Given the description of an element on the screen output the (x, y) to click on. 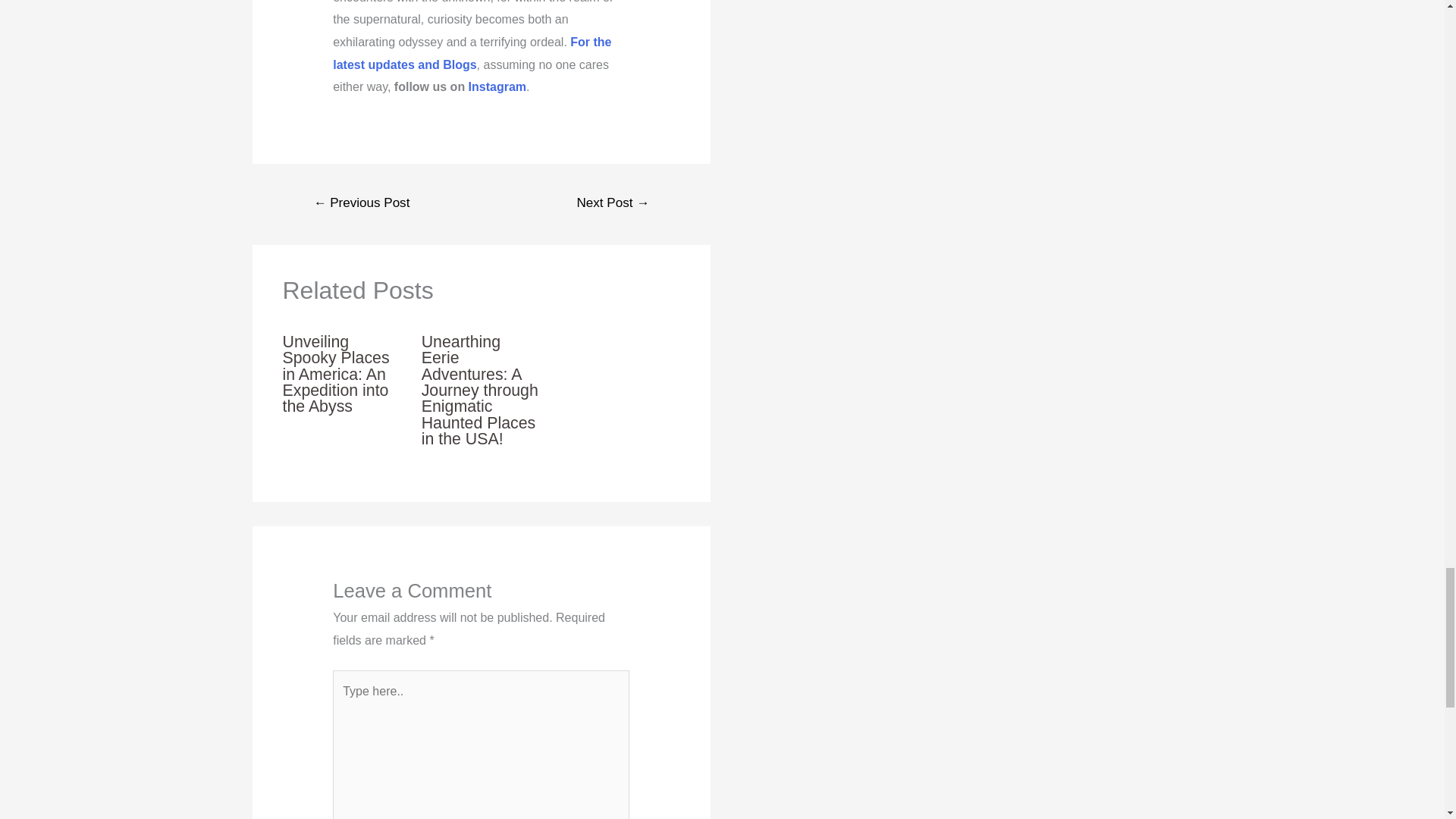
Instagram (496, 86)
For the latest updates and Blogs (472, 53)
